Given the description of an element on the screen output the (x, y) to click on. 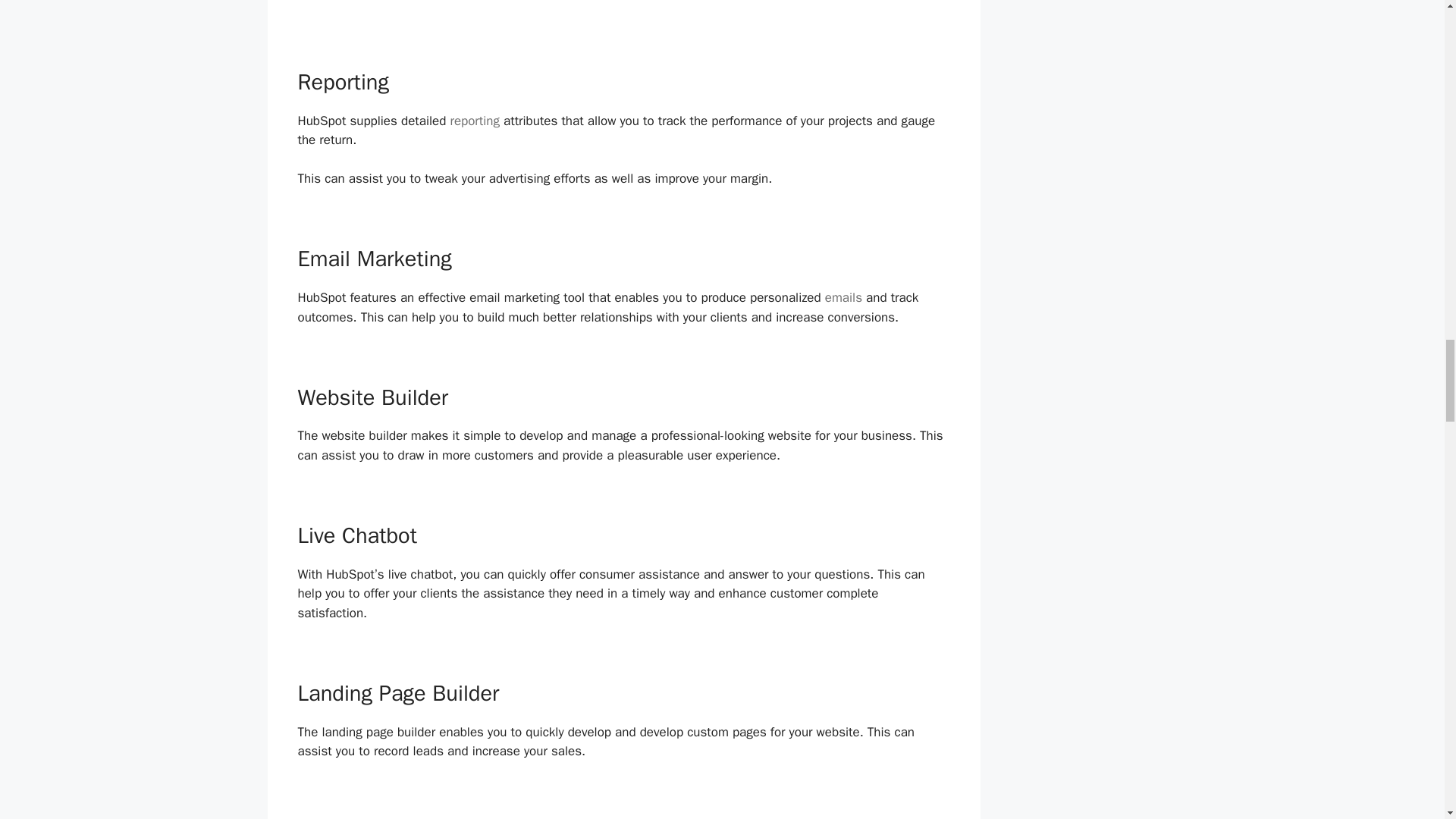
emails (843, 297)
reporting (474, 120)
